Given the description of an element on the screen output the (x, y) to click on. 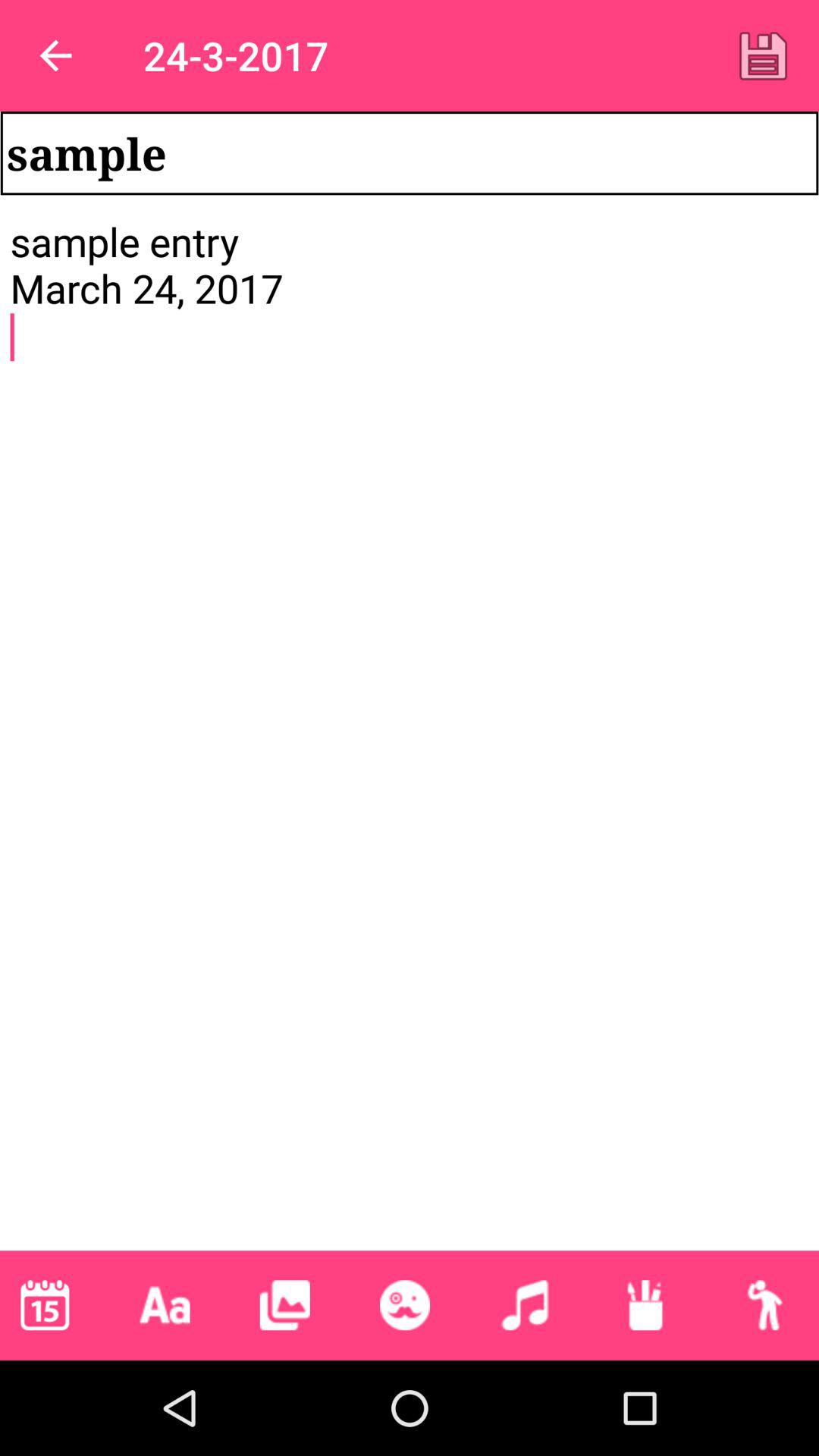
go to calendar (44, 1305)
